Given the description of an element on the screen output the (x, y) to click on. 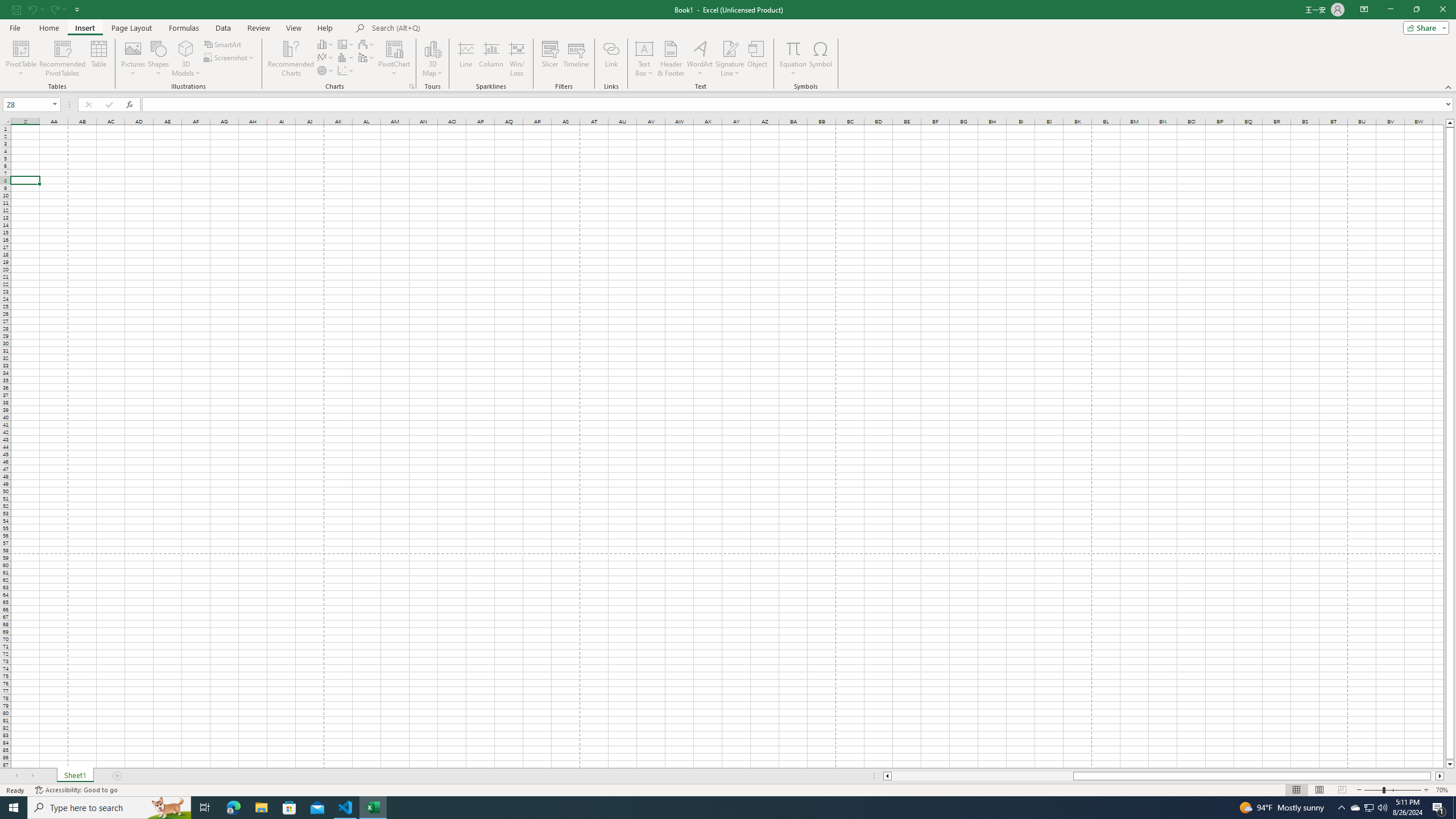
Insert Hierarchy Chart (346, 44)
Insert Combo Chart (366, 56)
Timeline (575, 58)
Table (98, 58)
Signature Line (729, 48)
Equation (793, 58)
